Given the description of an element on the screen output the (x, y) to click on. 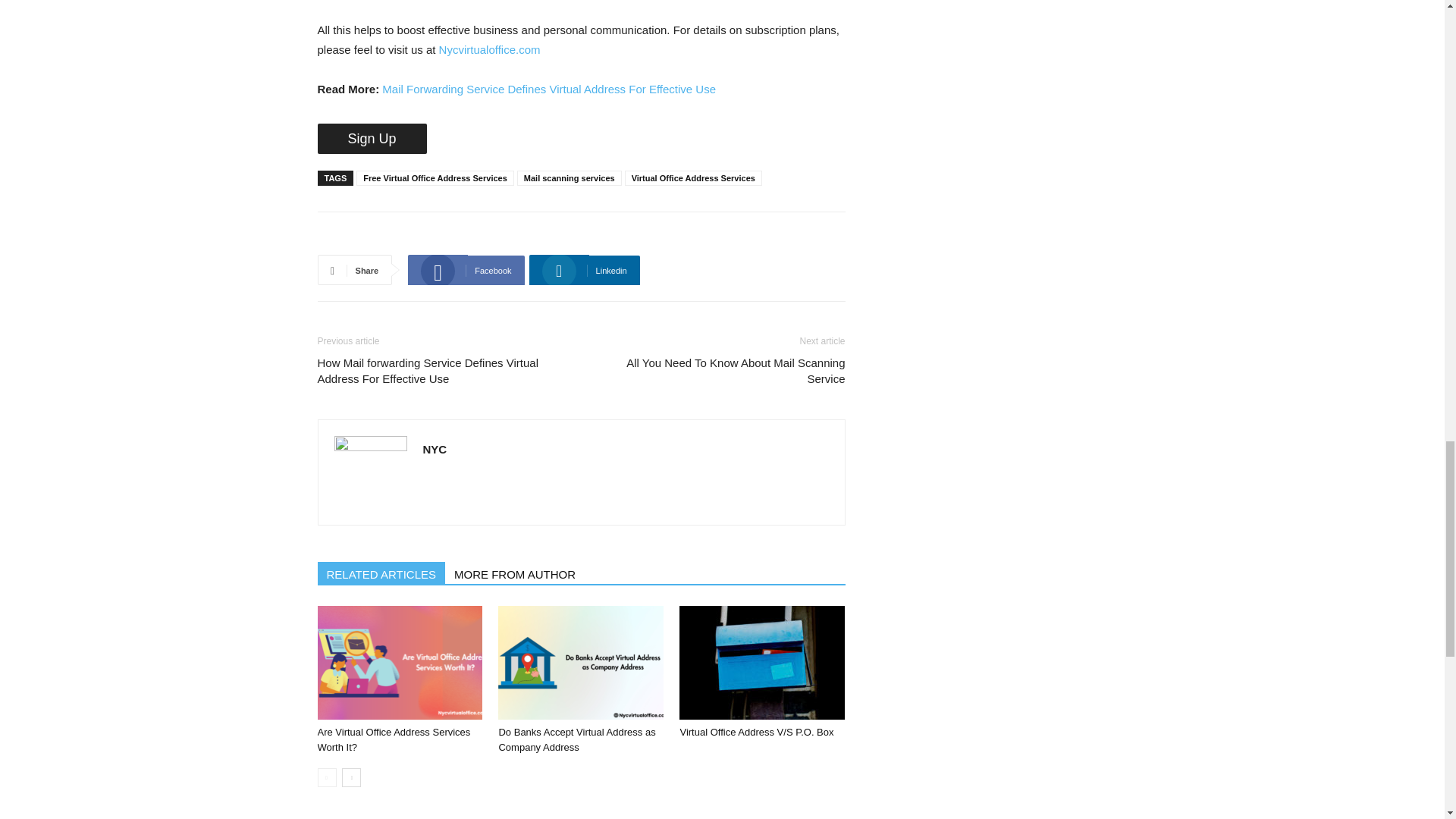
Do Banks Accept Virtual Address as Company Address (580, 662)
Are Virtual Office Address Services Worth It? (393, 739)
Are Virtual Office Address Services Worth It? (399, 662)
Sign Up (371, 138)
Mail scanning services (568, 177)
Do Banks Accept Virtual Address as Company Address (576, 739)
Virtual Office Address Services (692, 177)
Sign Up (371, 138)
Free Virtual Office Address Services (434, 177)
Nycvirtualoffice.com (489, 49)
